Given the description of an element on the screen output the (x, y) to click on. 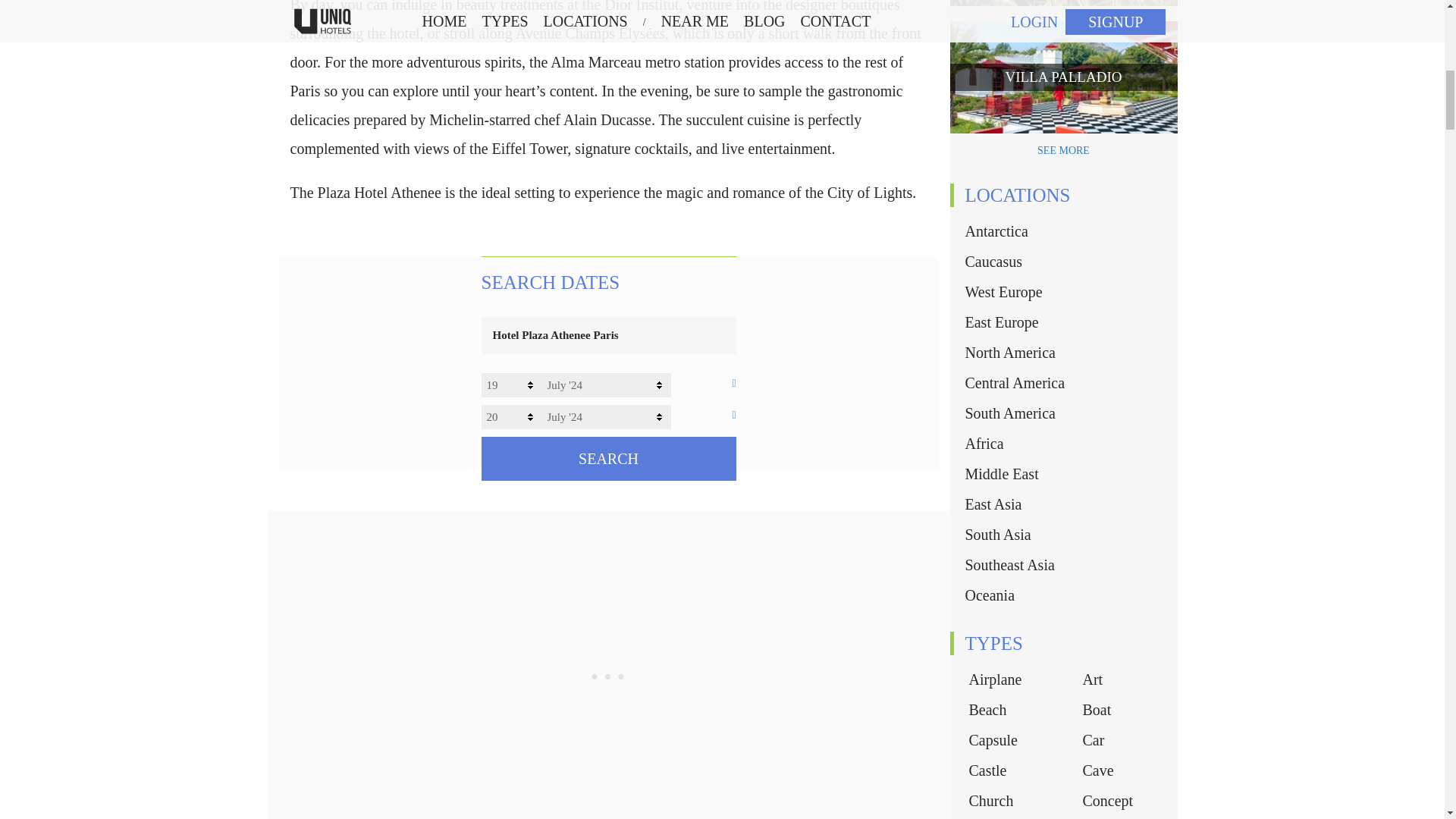
July '24 (605, 416)
Hotel Plaza Athenee Paris (607, 334)
City, Region, Country, Landmark, Hotel, District (607, 334)
19 (510, 385)
20 (510, 416)
July '24 (605, 385)
SEARCH (607, 458)
